Given the description of an element on the screen output the (x, y) to click on. 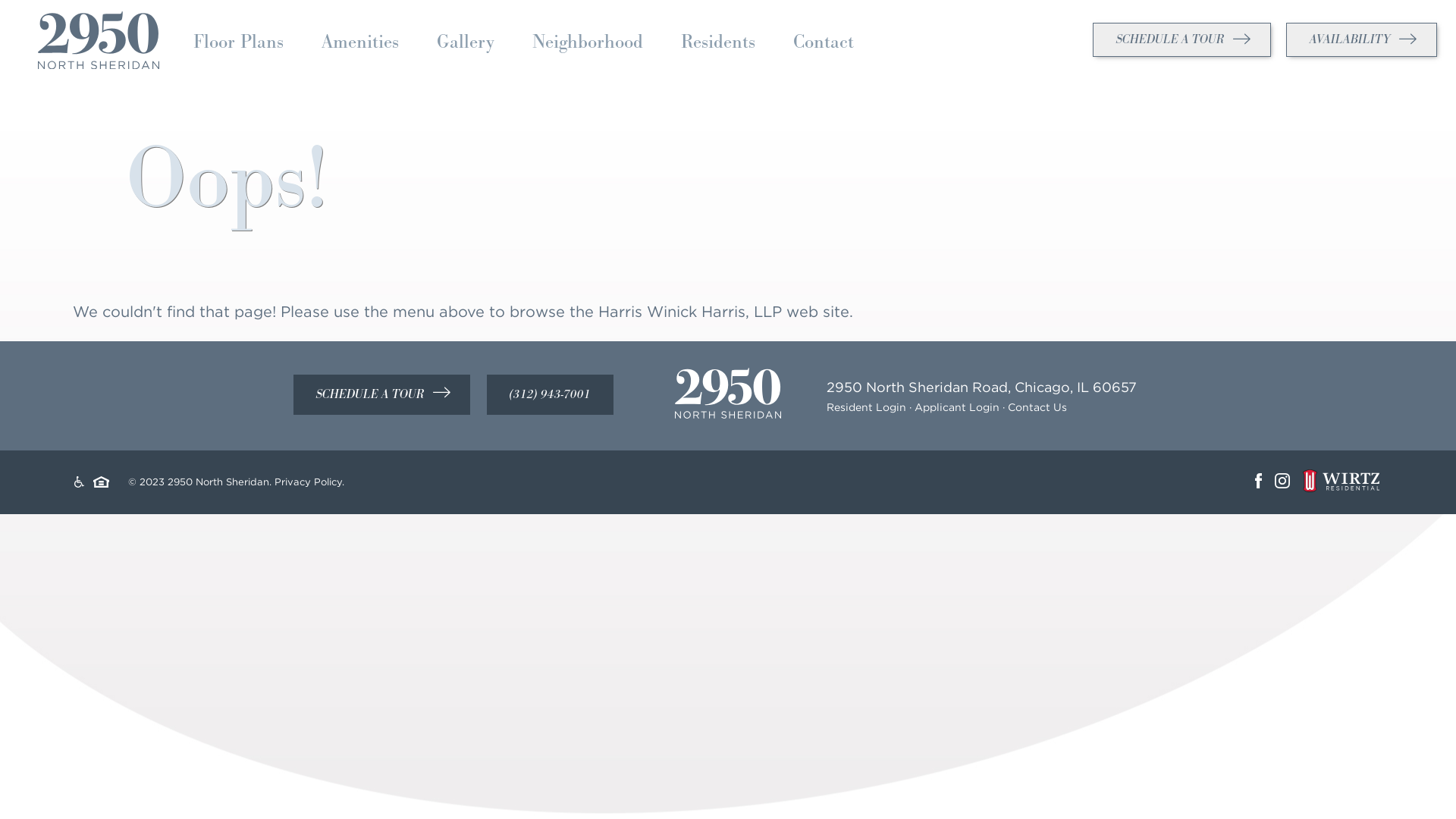
Residents Element type: text (718, 42)
Applicant Login Element type: text (956, 407)
Contact Element type: text (823, 42)
2950 North Sheridan Road, Chicago, IL 60657 Element type: text (981, 387)
(312) 943-7001 Element type: text (550, 394)
AVAILABILITY Element type: text (1361, 39)
Neighborhood Element type: text (587, 42)
Gallery Element type: text (465, 42)
Amenities Element type: text (359, 42)
Floor Plans Element type: text (238, 42)
SCHEDULE A TOUR Element type: text (381, 394)
Resident Login Element type: text (866, 407)
Contact Us Element type: text (1036, 407)
Privacy Policy Element type: text (308, 481)
SCHEDULE A TOUR Element type: text (1181, 39)
